Given the description of an element on the screen output the (x, y) to click on. 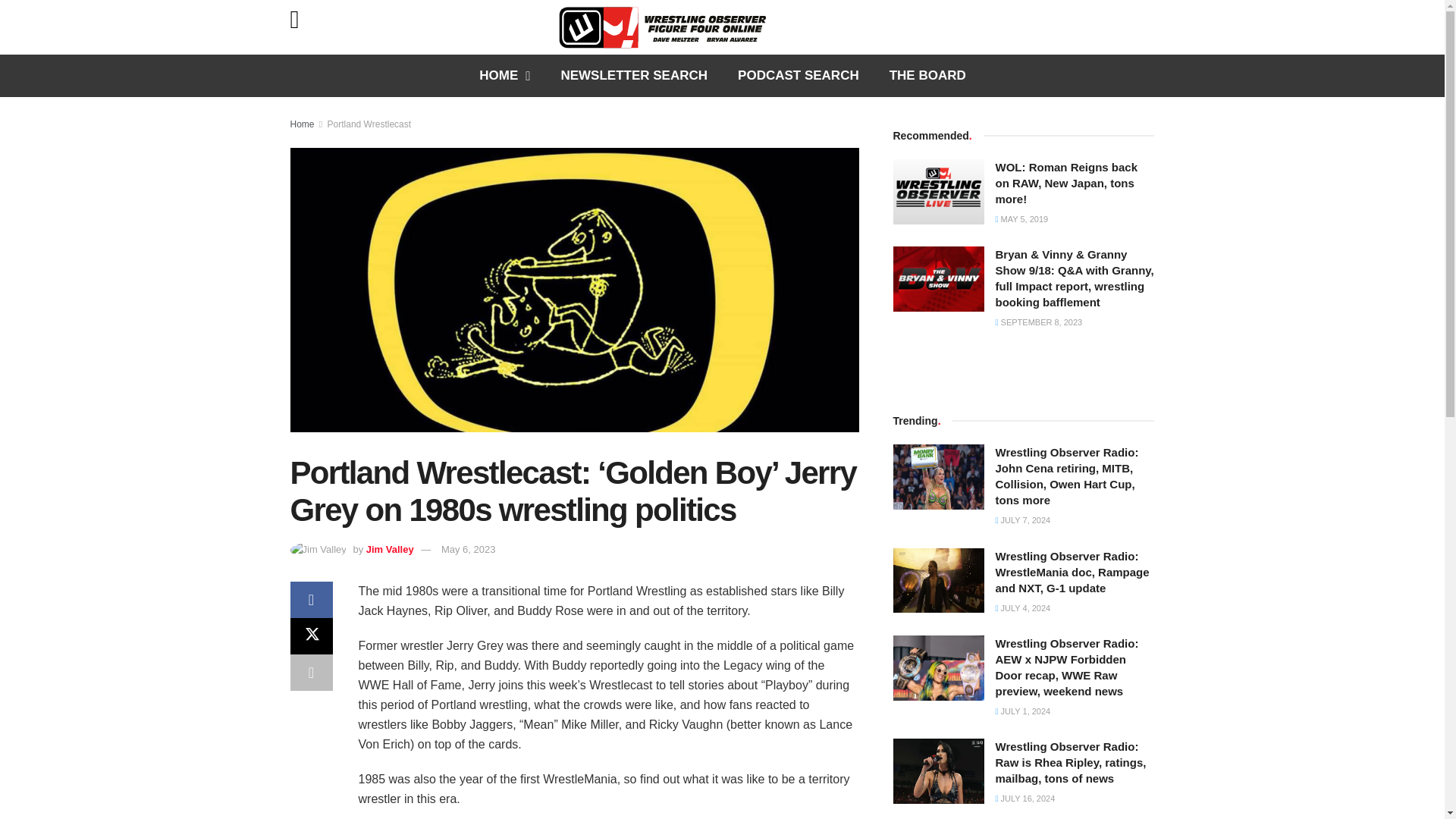
Portland Wrestlecast (369, 123)
NEWSLETTER SEARCH (633, 75)
PODCAST SEARCH (798, 75)
THE BOARD (928, 75)
Jim Valley (389, 549)
May 6, 2023 (468, 549)
Home (301, 123)
WOL: Roman Reigns back on RAW, New Japan, tons more! (938, 191)
HOME (504, 75)
